Given the description of an element on the screen output the (x, y) to click on. 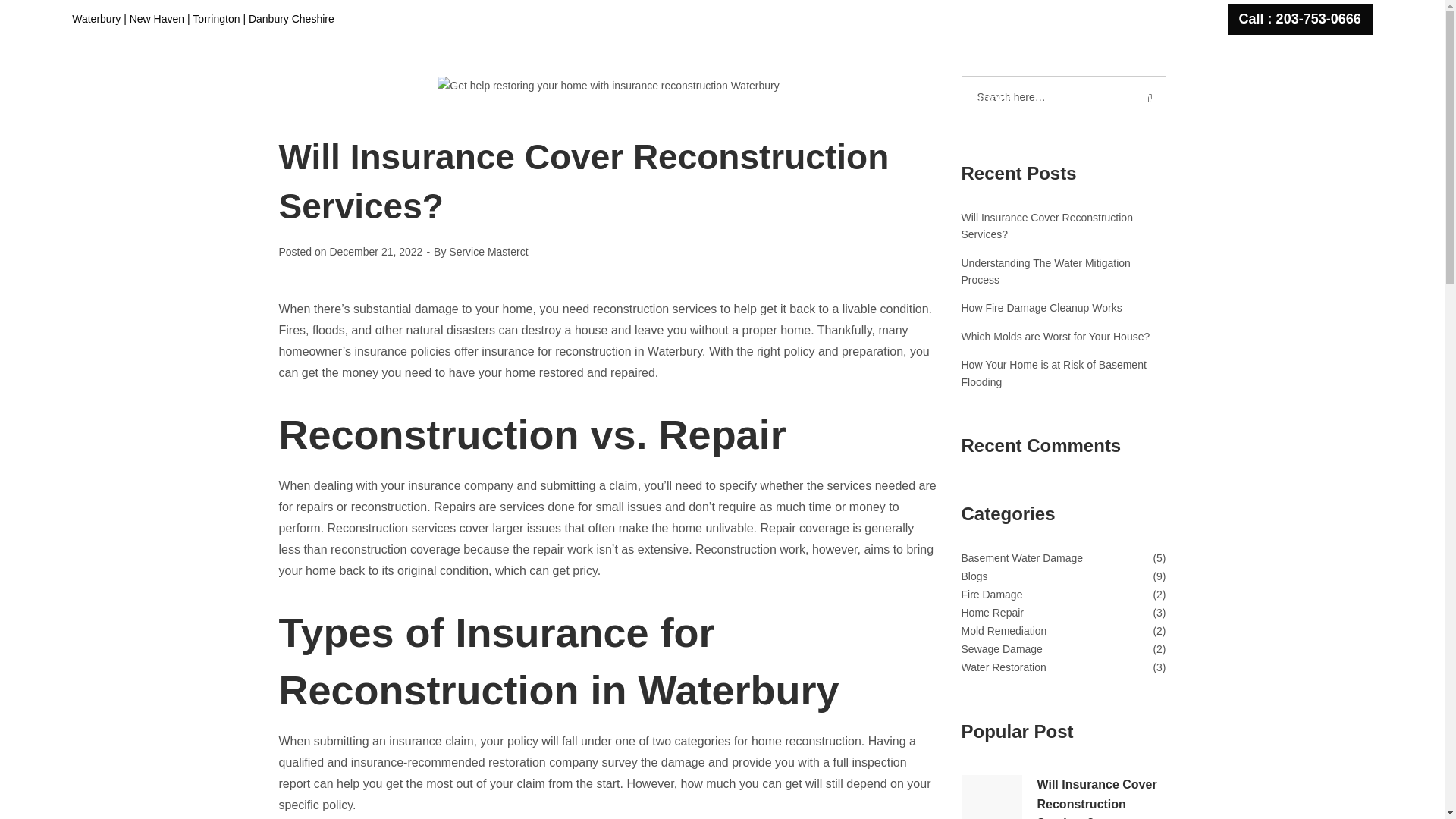
Search for: (1063, 96)
Services (830, 98)
Home (646, 98)
About Us (733, 98)
